Given the description of an element on the screen output the (x, y) to click on. 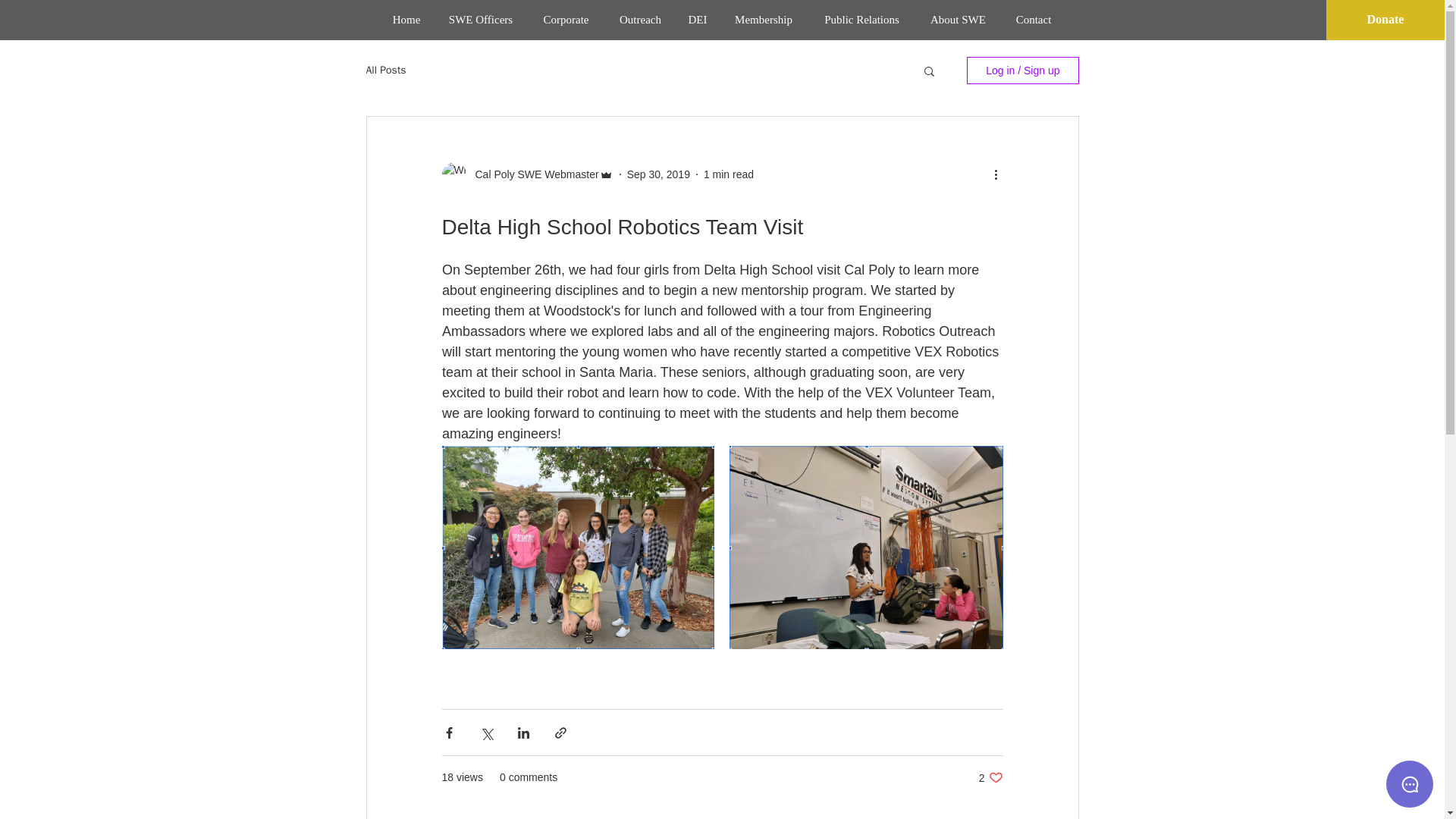
1 min read (728, 174)
About SWE (957, 20)
DEI (698, 20)
Public Relations (861, 20)
SWE Officers (480, 20)
Membership (990, 777)
All Posts (763, 20)
Home (385, 69)
Cal Poly SWE Webmaster (405, 20)
